Given the description of an element on the screen output the (x, y) to click on. 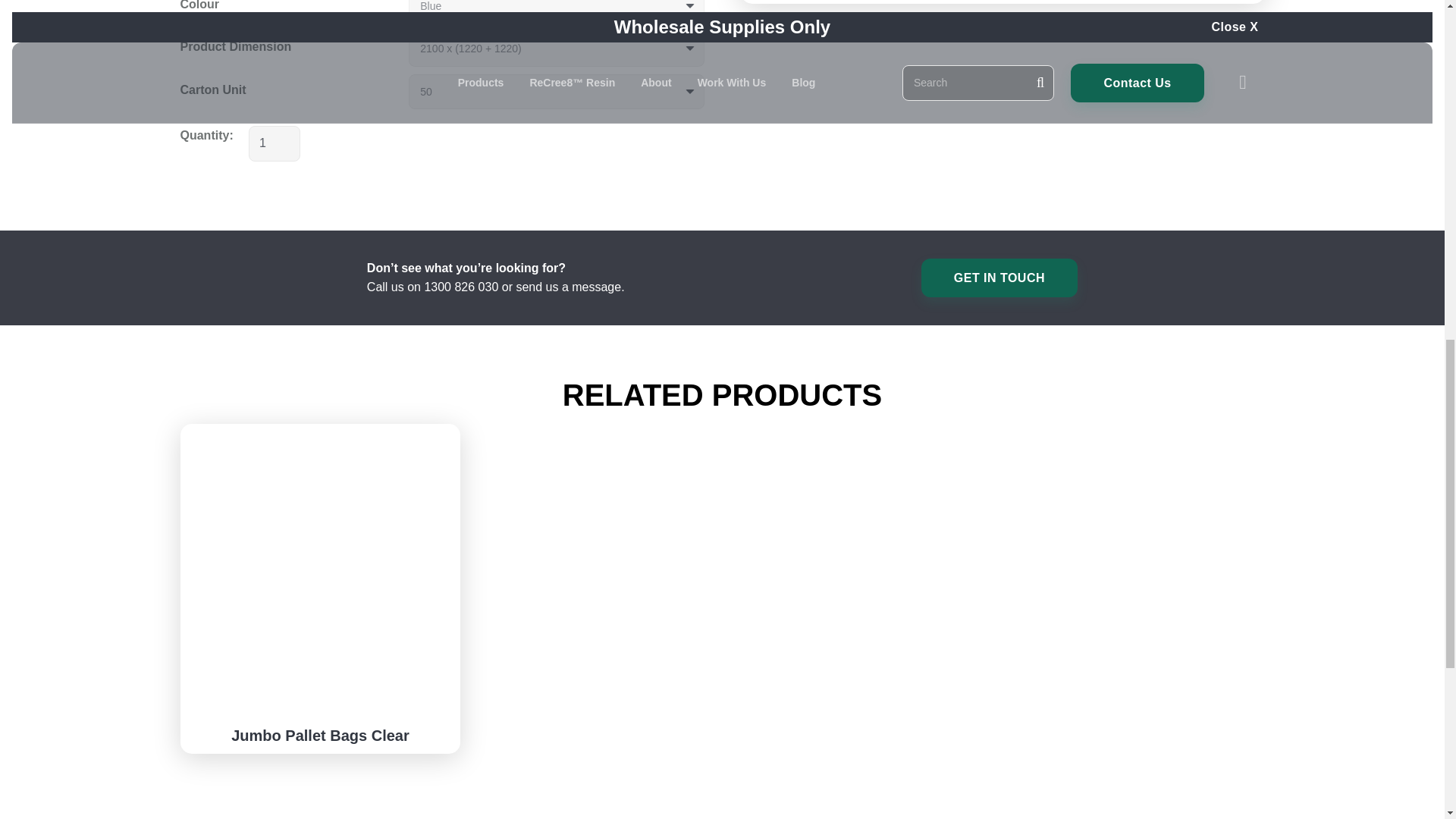
Jumbo Pallet Bags Clear (320, 735)
1300 826 030 (460, 286)
GET IN TOUCH (999, 277)
Back to top (30, 26)
1 (273, 143)
